Given the description of an element on the screen output the (x, y) to click on. 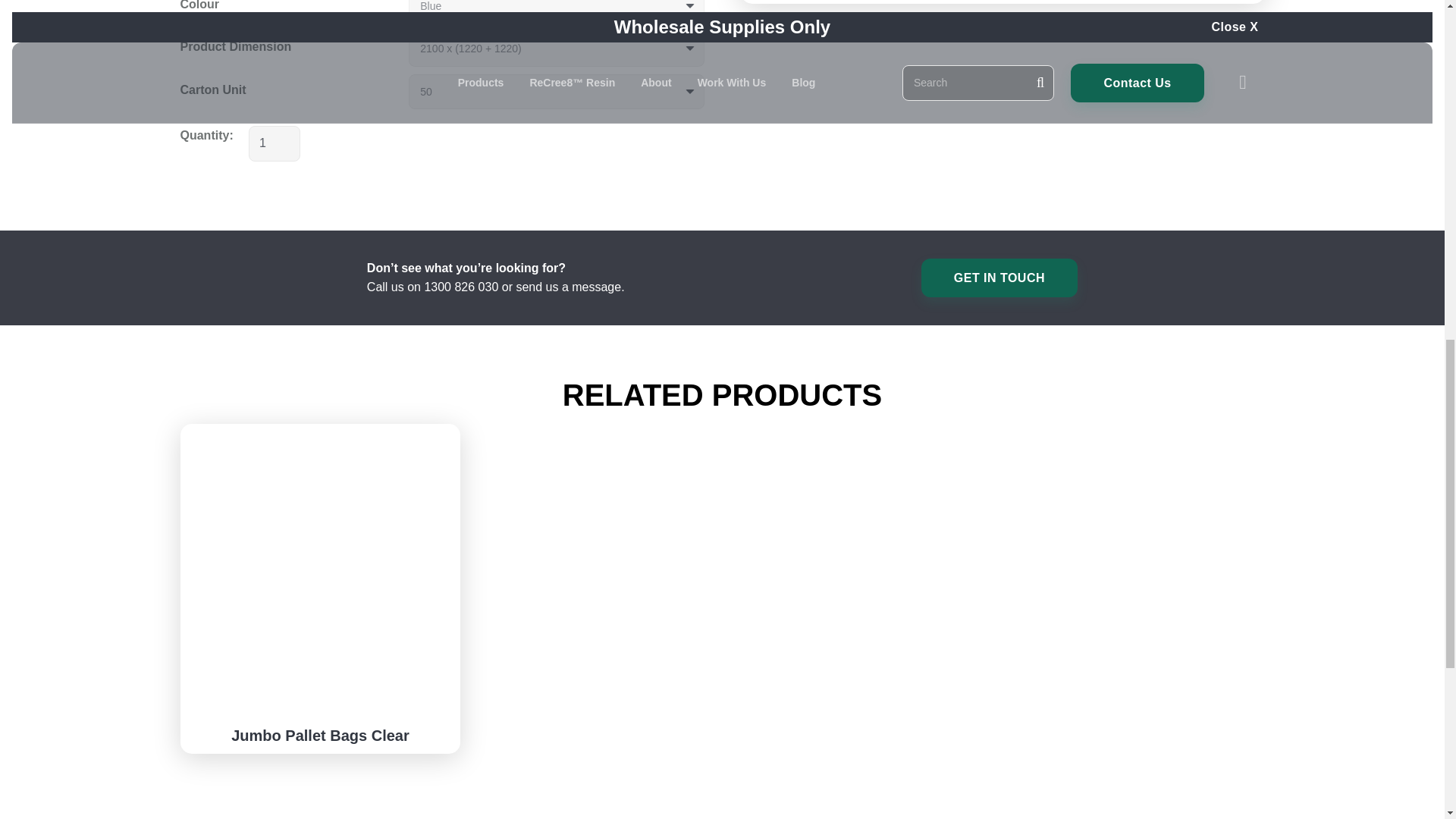
Jumbo Pallet Bags Clear (320, 735)
1300 826 030 (460, 286)
GET IN TOUCH (999, 277)
Back to top (30, 26)
1 (273, 143)
